Given the description of an element on the screen output the (x, y) to click on. 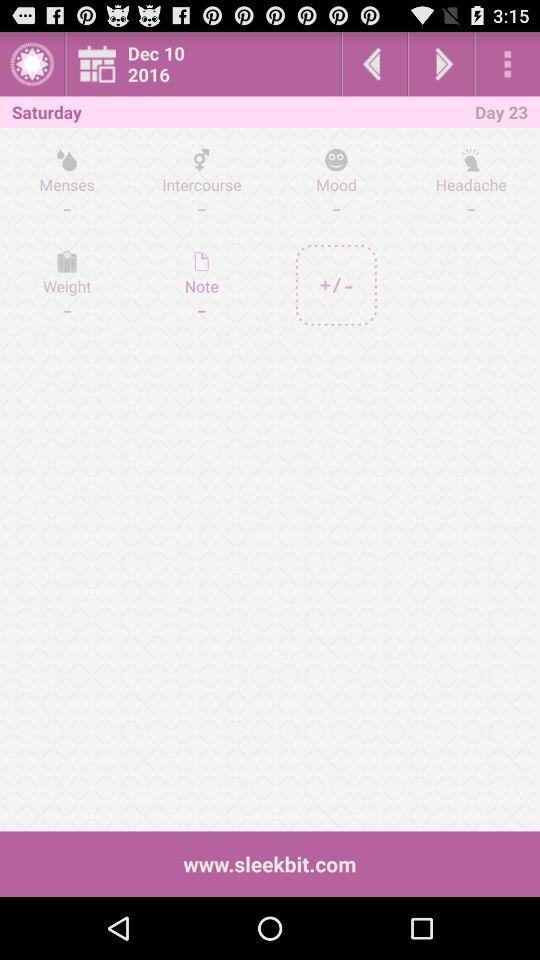
open options menu (507, 63)
